Given the description of an element on the screen output the (x, y) to click on. 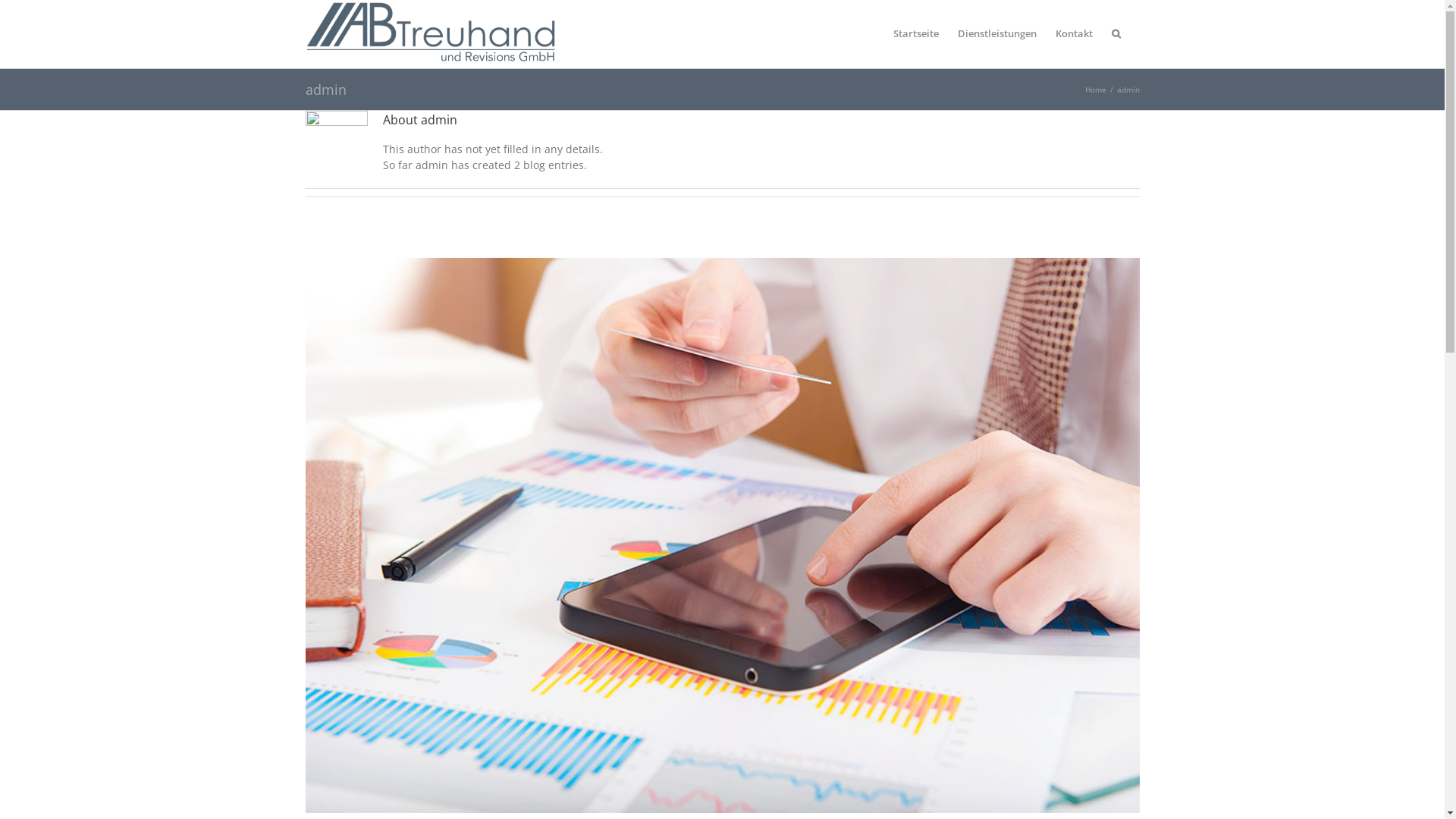
Dienstleistungen Element type: text (996, 34)
Startseite Element type: text (915, 34)
Home Element type: text (1094, 88)
Kontakt Element type: text (1073, 34)
Search Element type: hover (1115, 34)
